Given the description of an element on the screen output the (x, y) to click on. 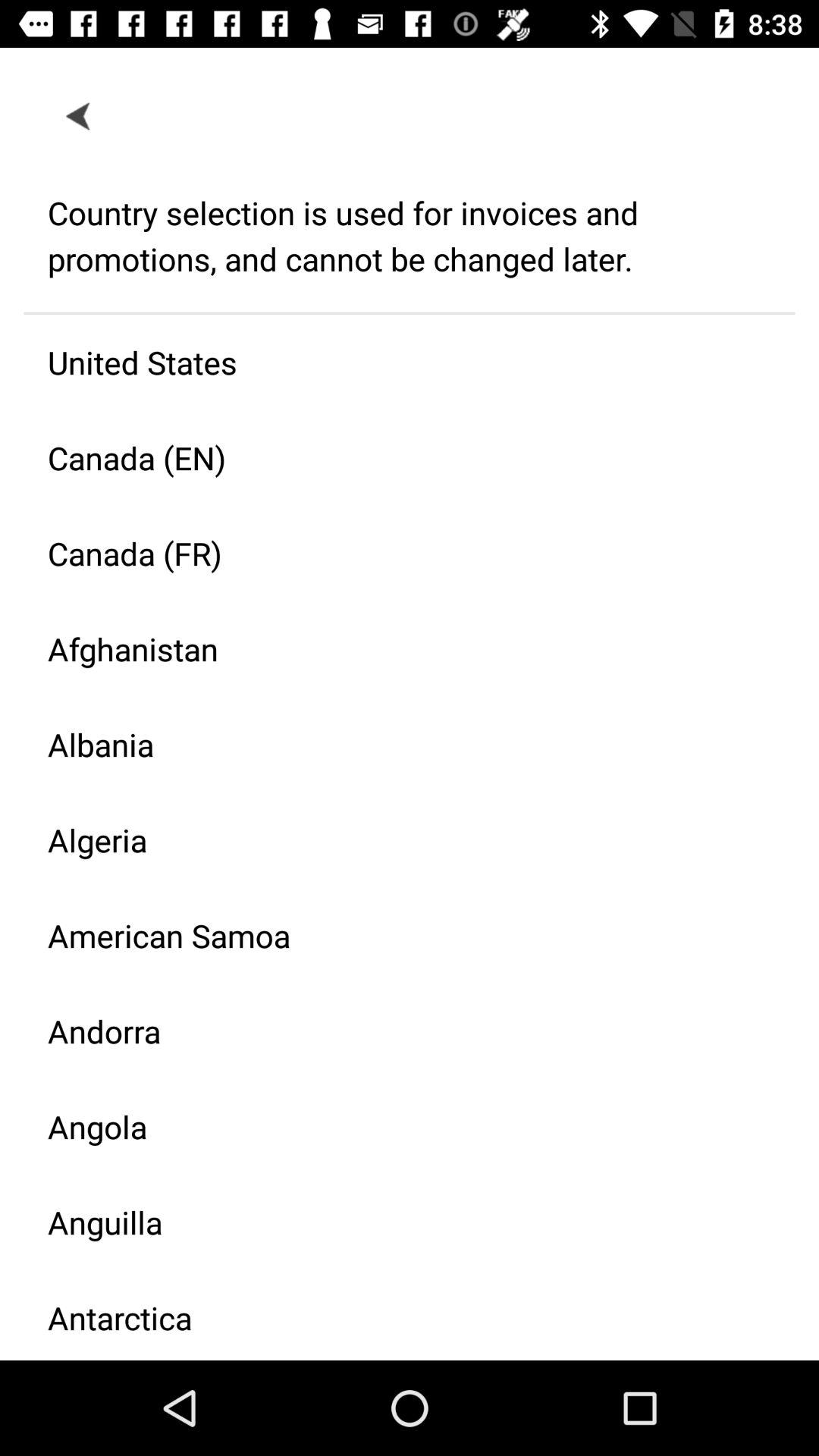
flip until the united states (397, 361)
